Given the description of an element on the screen output the (x, y) to click on. 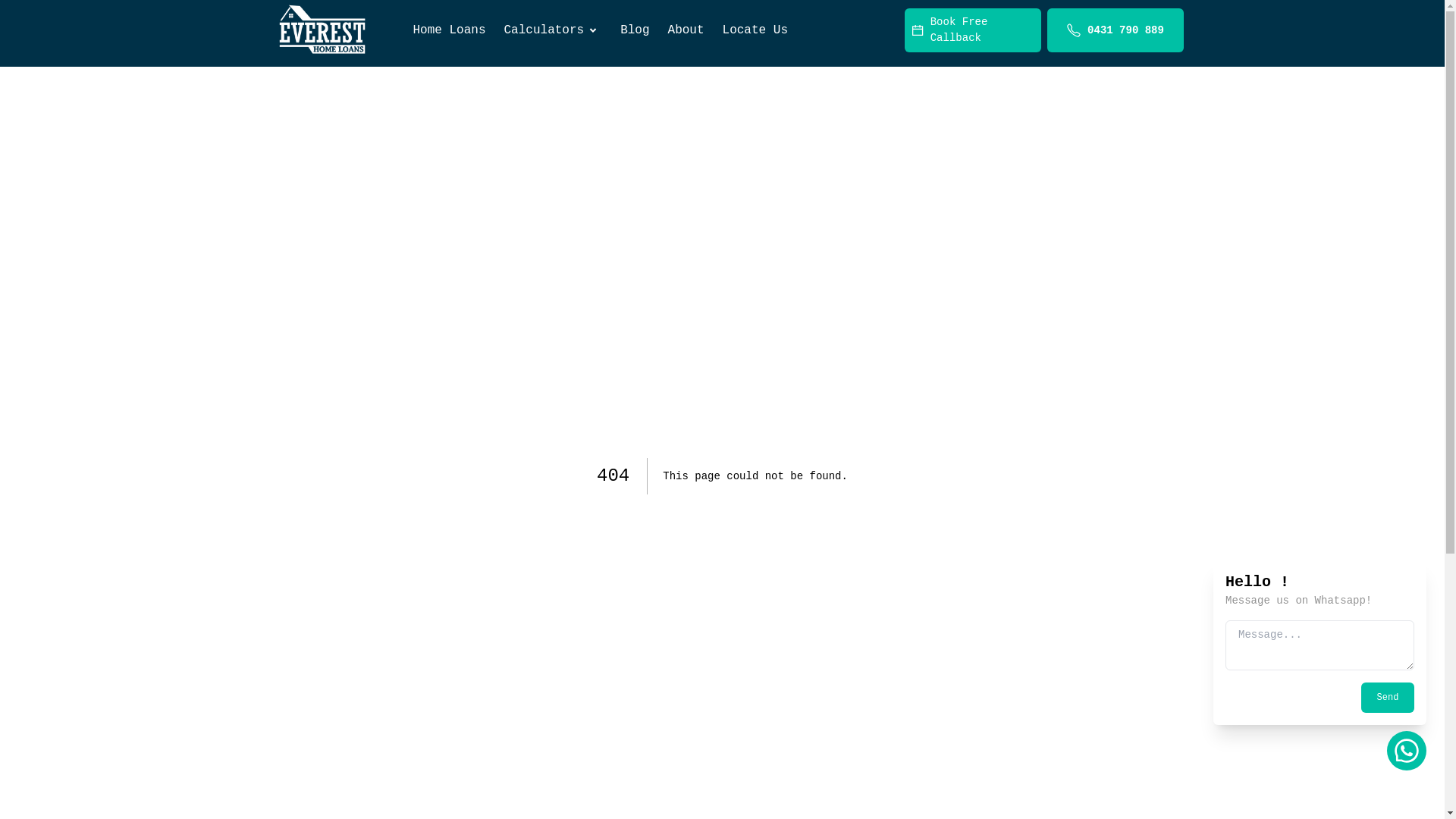
Home Loans Element type: text (448, 30)
About Element type: text (686, 30)
Locate Us Element type: text (754, 30)
Book Free Callback Element type: text (971, 30)
Blog Element type: text (634, 30)
0431 790 889 Element type: text (1114, 30)
Send Element type: text (1387, 697)
Calculators Element type: text (553, 30)
